Given the description of an element on the screen output the (x, y) to click on. 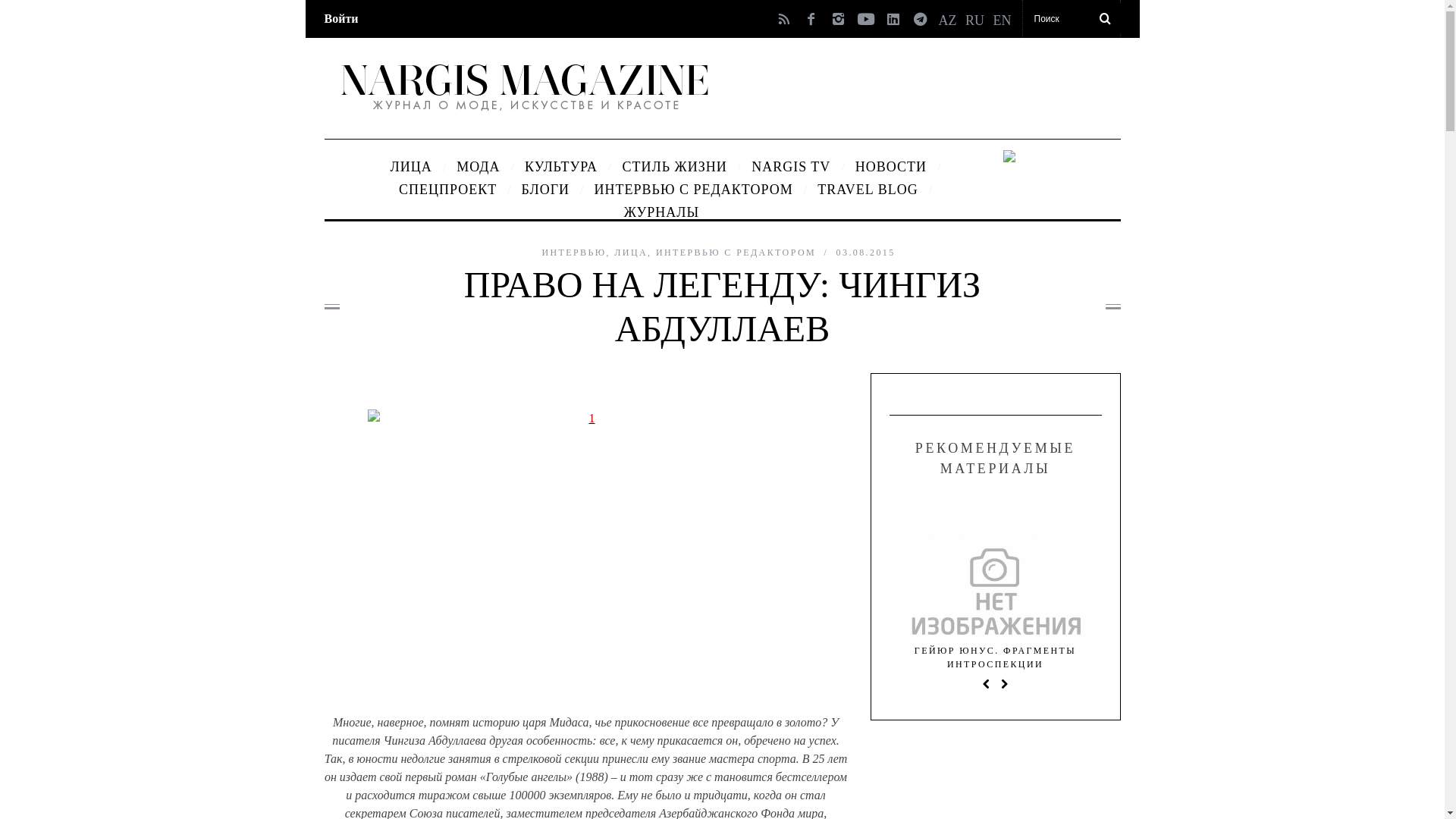
NO WOMAN NO CRIME Element type: text (782, 650)
RU Element type: text (975, 16)
TRAVEL BLOG Element type: text (867, 189)
AZ Element type: text (947, 16)
NARGIS TV Element type: text (790, 166)
EN Element type: text (1002, 16)
